Given the description of an element on the screen output the (x, y) to click on. 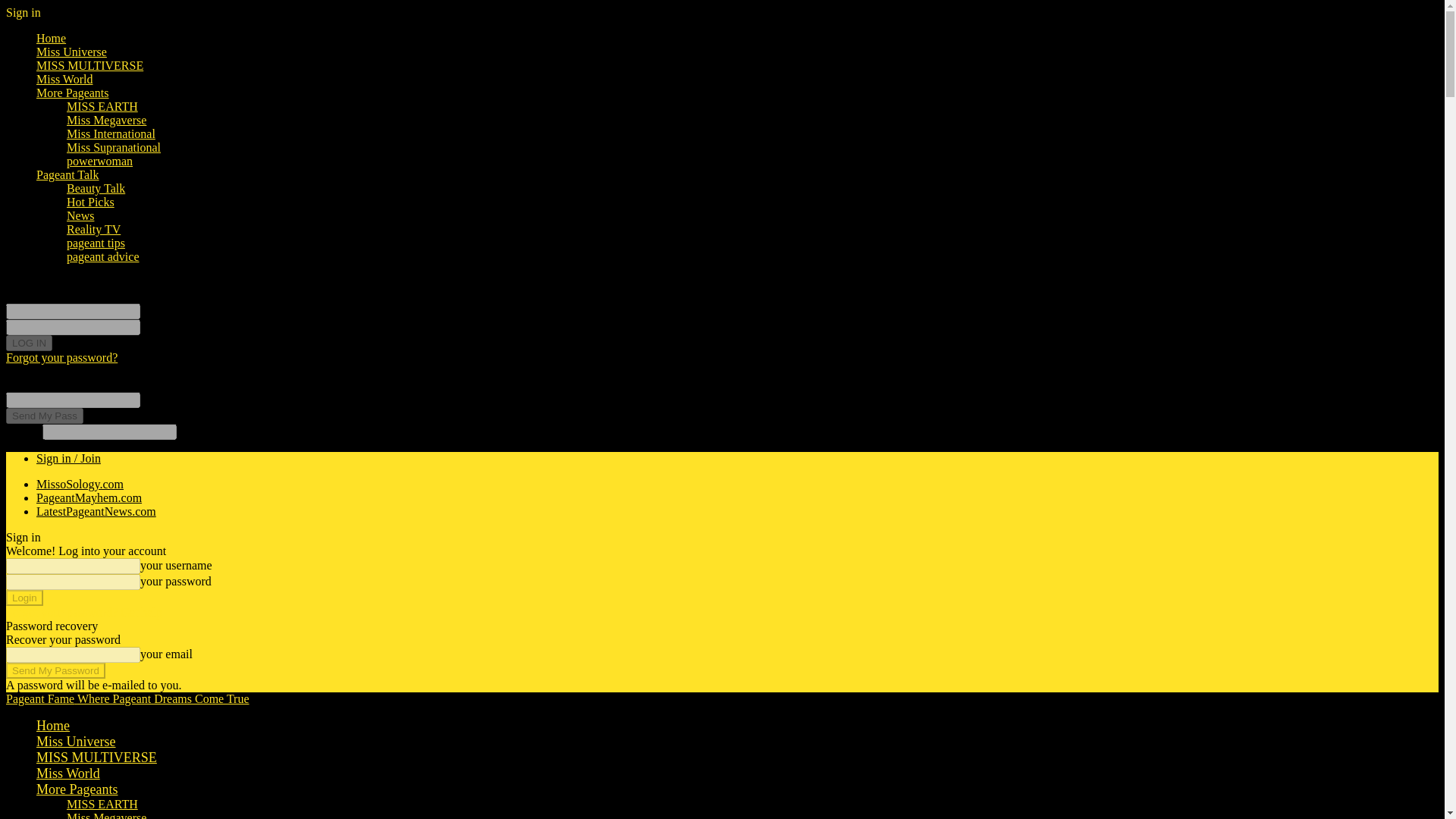
Login (24, 597)
Sign in (22, 11)
pageant tips (95, 242)
MISS MULTIVERSE (96, 757)
LOG IN (28, 342)
Hot Picks (90, 201)
Miss Universe (76, 741)
MISS MULTIVERSE (89, 65)
powerwoman (99, 160)
MISS EARTH (102, 106)
Pageant Fame Where Pageant Dreams Come True (126, 698)
MissoSology.com (79, 483)
pageant advice (102, 256)
Reality TV (93, 228)
Forgot your password? Get help (83, 612)
